Given the description of an element on the screen output the (x, y) to click on. 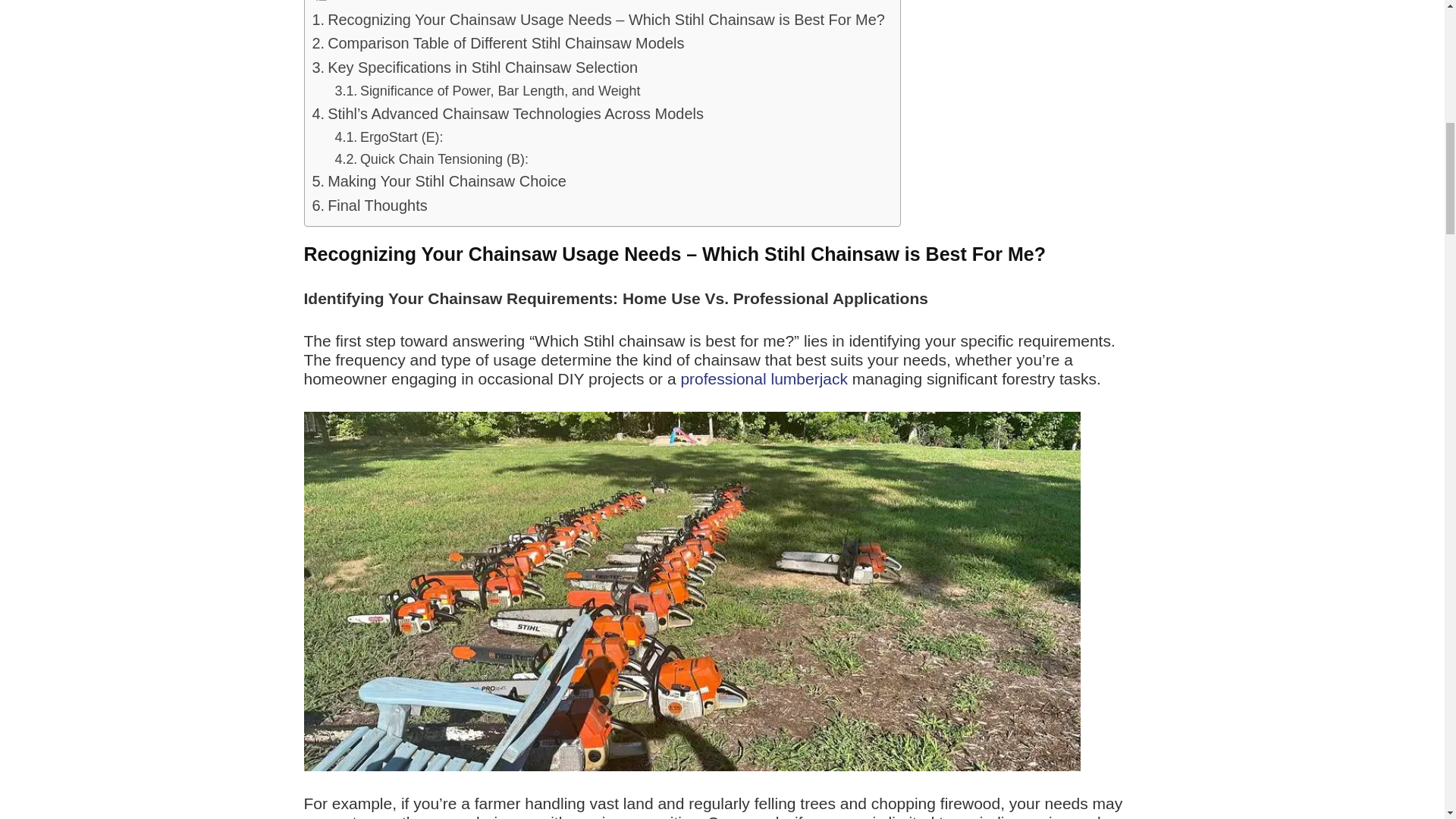
Significance of Power, Bar Length, and Weight (487, 91)
Key Specifications in Stihl Chainsaw Selection (476, 68)
Significance of Power, Bar Length, and Weight (487, 91)
Comparison Table of Different Stihl Chainsaw Models (498, 43)
professional lumberjack (763, 378)
Final Thoughts (370, 206)
Final Thoughts (370, 206)
Comparison Table of Different Stihl Chainsaw Models (498, 43)
Key Specifications in Stihl Chainsaw Selection (476, 68)
Making Your Stihl Chainsaw Choice (439, 181)
